Given the description of an element on the screen output the (x, y) to click on. 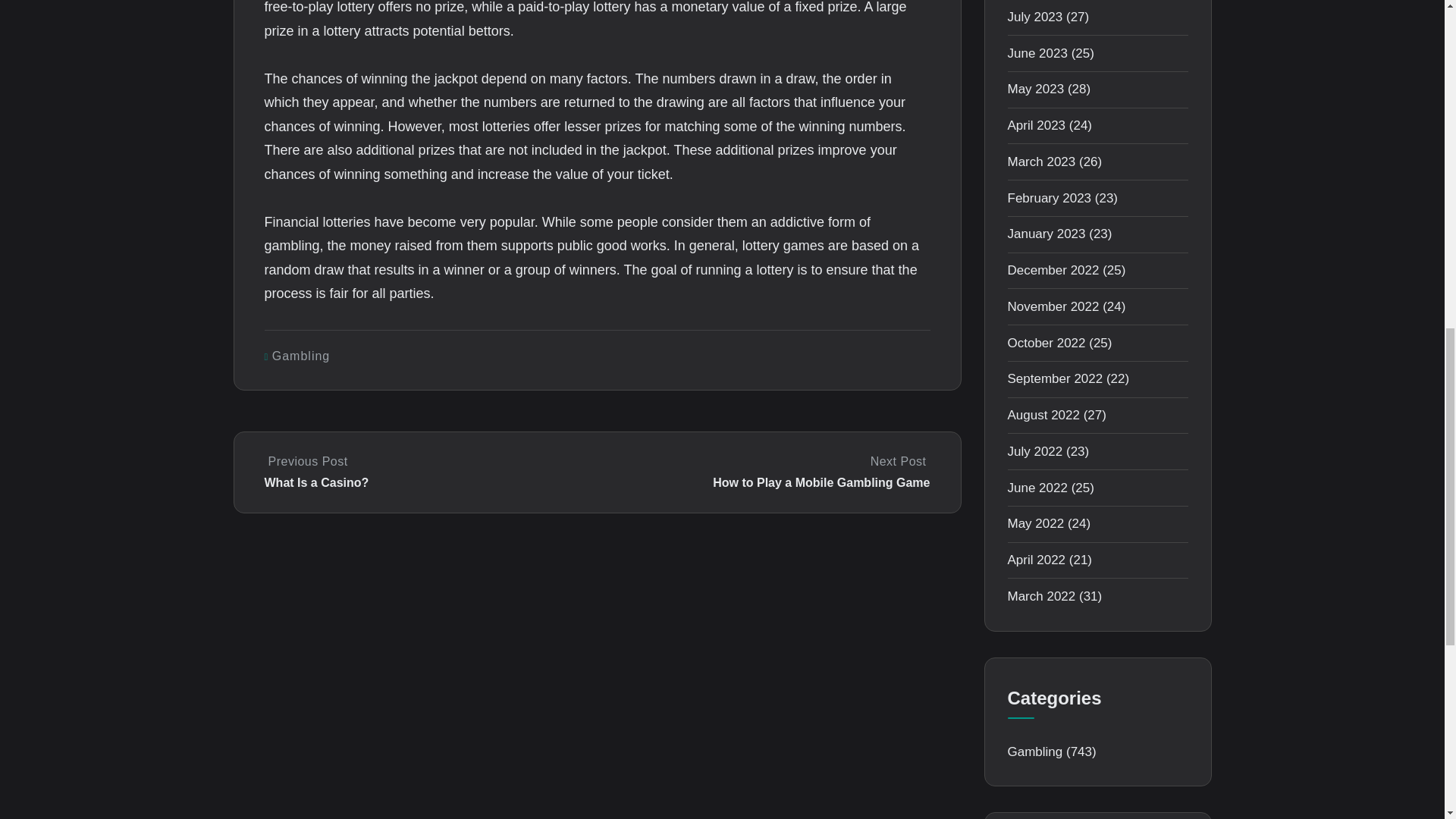
November 2022 (1053, 306)
March 2023 (1041, 161)
February 2023 (1048, 197)
December 2022 (1053, 269)
June 2023 (1037, 52)
July 2023 (1034, 16)
Gambling (301, 355)
January 2023 (1045, 233)
May 2023 (1035, 88)
